Given the description of an element on the screen output the (x, y) to click on. 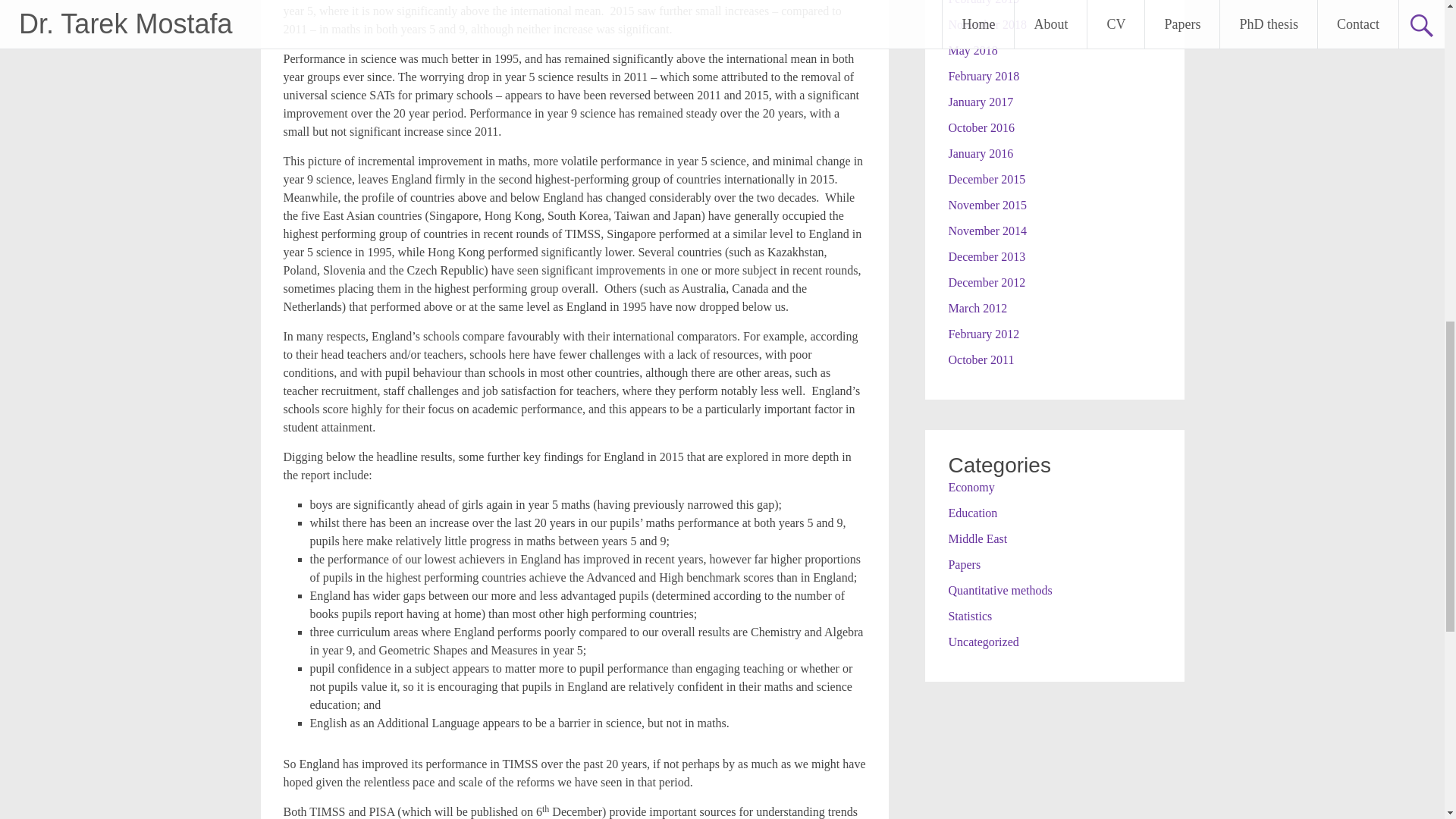
January 2016 (980, 153)
November 2015 (986, 205)
December 2015 (986, 178)
November 2018 (986, 24)
December 2013 (986, 256)
February 2019 (983, 2)
November 2014 (986, 230)
January 2017 (980, 101)
February 2018 (983, 75)
May 2018 (972, 50)
October 2016 (980, 127)
December 2012 (986, 282)
